Given the description of an element on the screen output the (x, y) to click on. 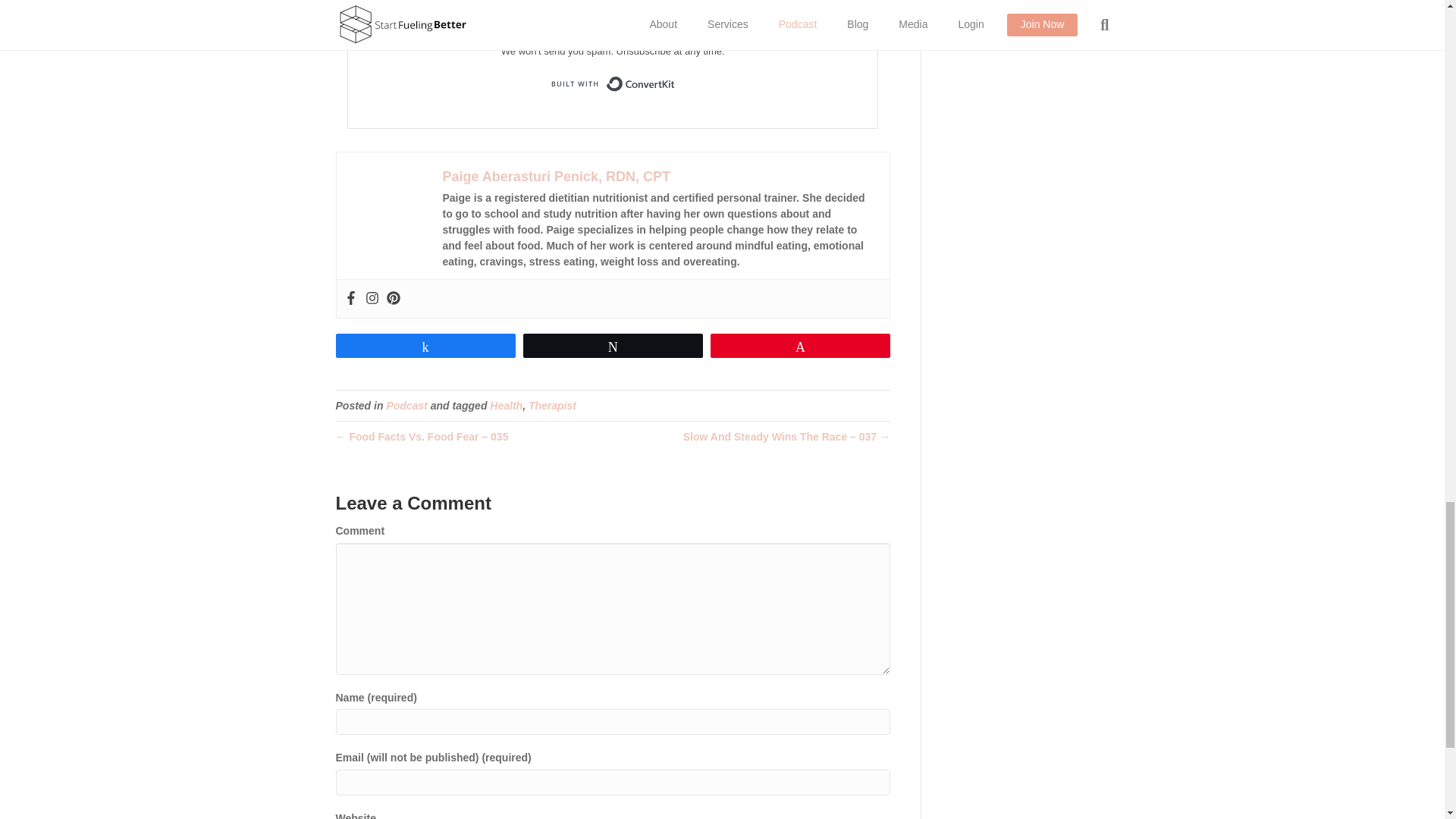
Pinterest (393, 298)
Podcast (405, 405)
Therapist (552, 405)
Built with ConvertKit (612, 83)
Instagram (371, 298)
Facebook (350, 298)
Health (505, 405)
Subscribe (612, 12)
Paige Aberasturi Penick, RDN, CPT (555, 176)
